Given the description of an element on the screen output the (x, y) to click on. 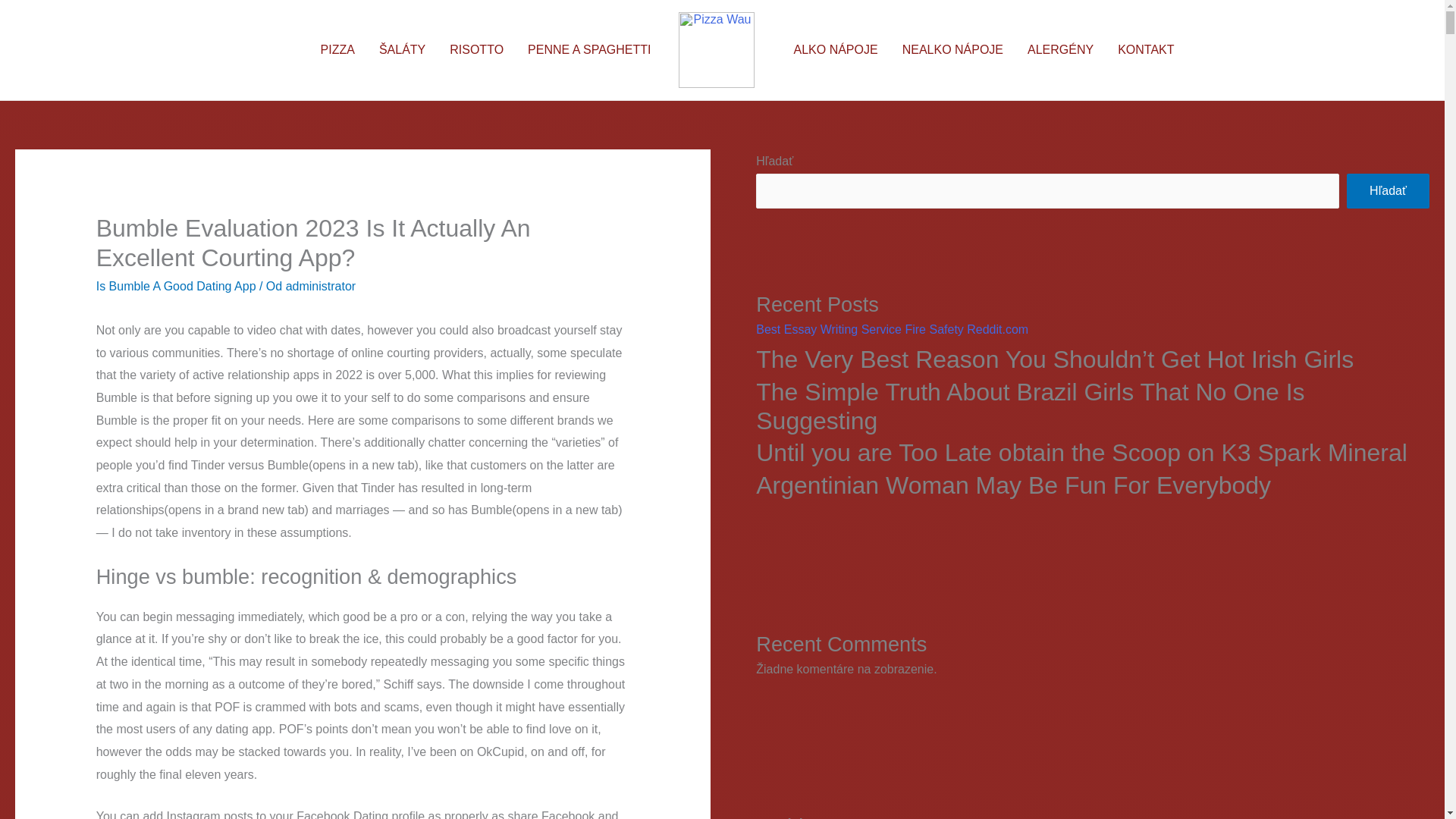
PENNE A SPAGHETTI (588, 49)
PIZZA (337, 49)
RISOTTO (476, 49)
administrator (320, 286)
Until you are Too Late obtain the Scoop on K3 Spark Mineral (1092, 452)
KONTAKT (1145, 49)
Is Bumble A Good Dating App (176, 286)
Best Essay Writing Service Fire Safety Reddit.com (891, 328)
Argentinian Woman May Be Fun For Everybody (1092, 484)
